Given the description of an element on the screen output the (x, y) to click on. 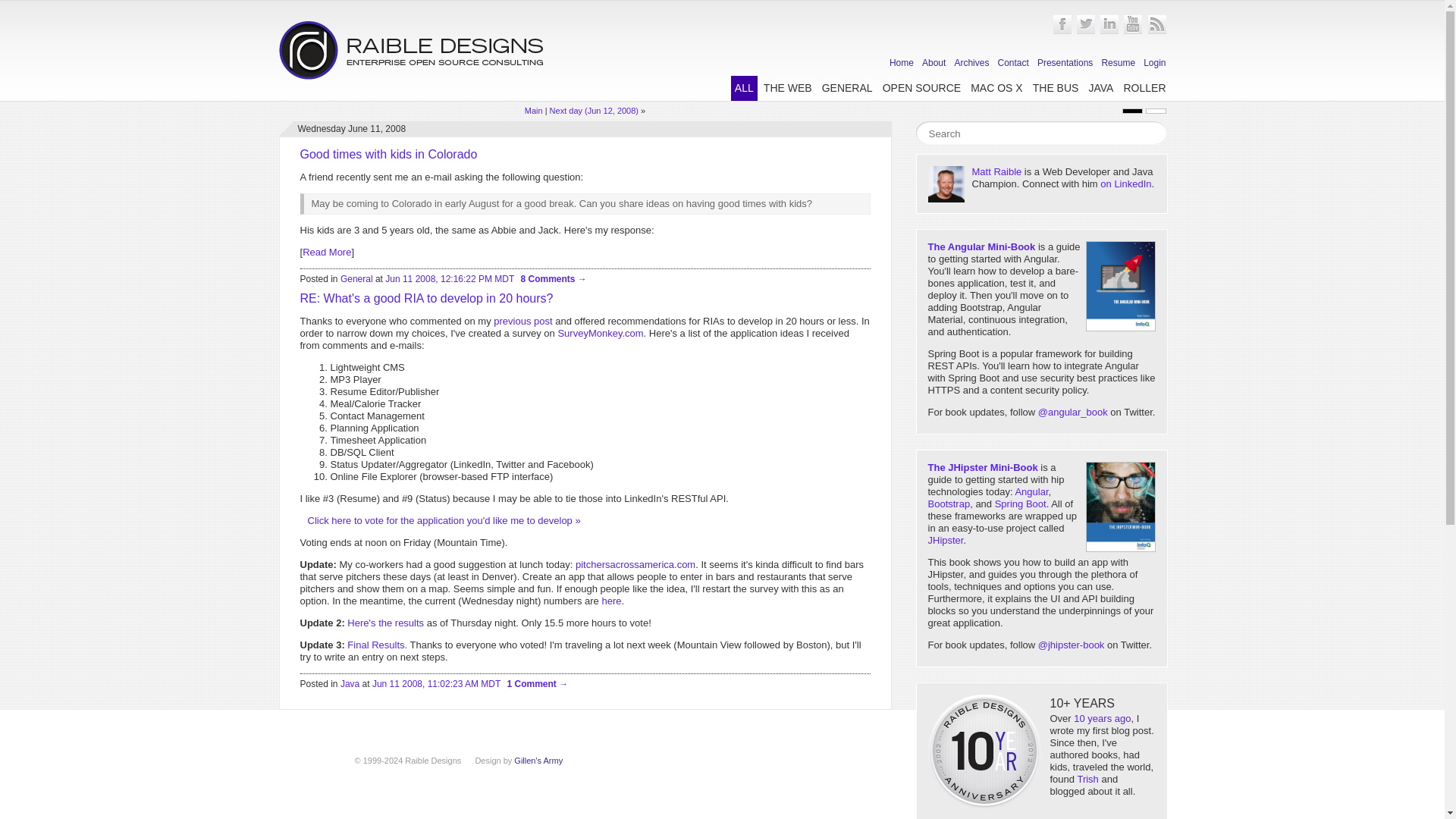
ALL (743, 88)
Home (901, 62)
Bootstrap (949, 503)
OPEN SOURCE (921, 88)
Dark (1132, 110)
Angular (1031, 491)
THE BUS (1056, 88)
The Angular Mini-Book (981, 246)
Twitter (1085, 31)
JHipster (945, 540)
LinkedIn (1109, 31)
JAVA (1100, 88)
Feed (1157, 31)
Contact (1013, 62)
Presentations (1064, 62)
